Given the description of an element on the screen output the (x, y) to click on. 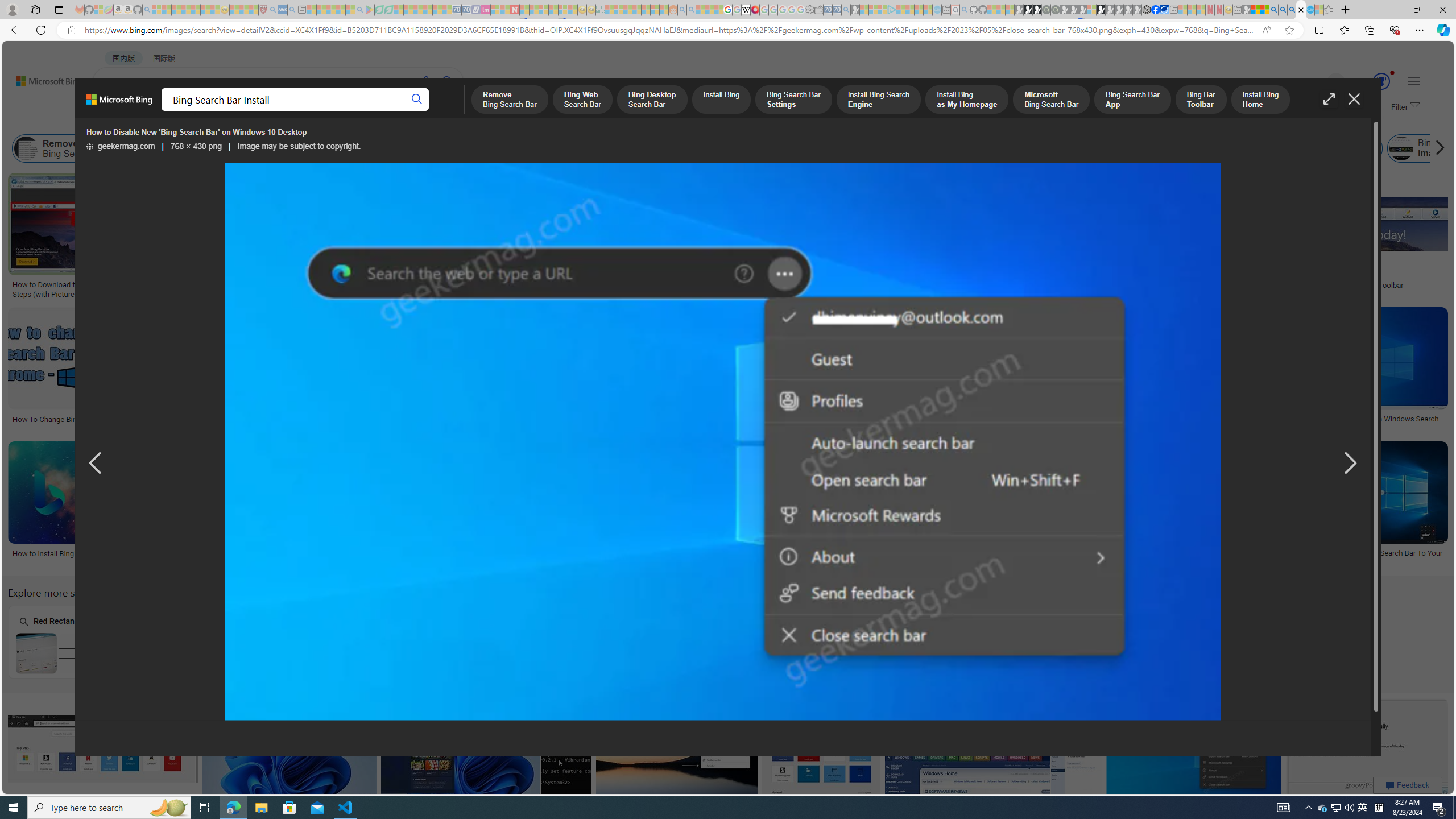
3:12 (1098, 317)
MY BING (156, 111)
How To Change Bing Search Bar To Google Windows 10 (745, 557)
Bing Search Bar Special Characters (224, 652)
Dropdown Menu (451, 111)
